Given the description of an element on the screen output the (x, y) to click on. 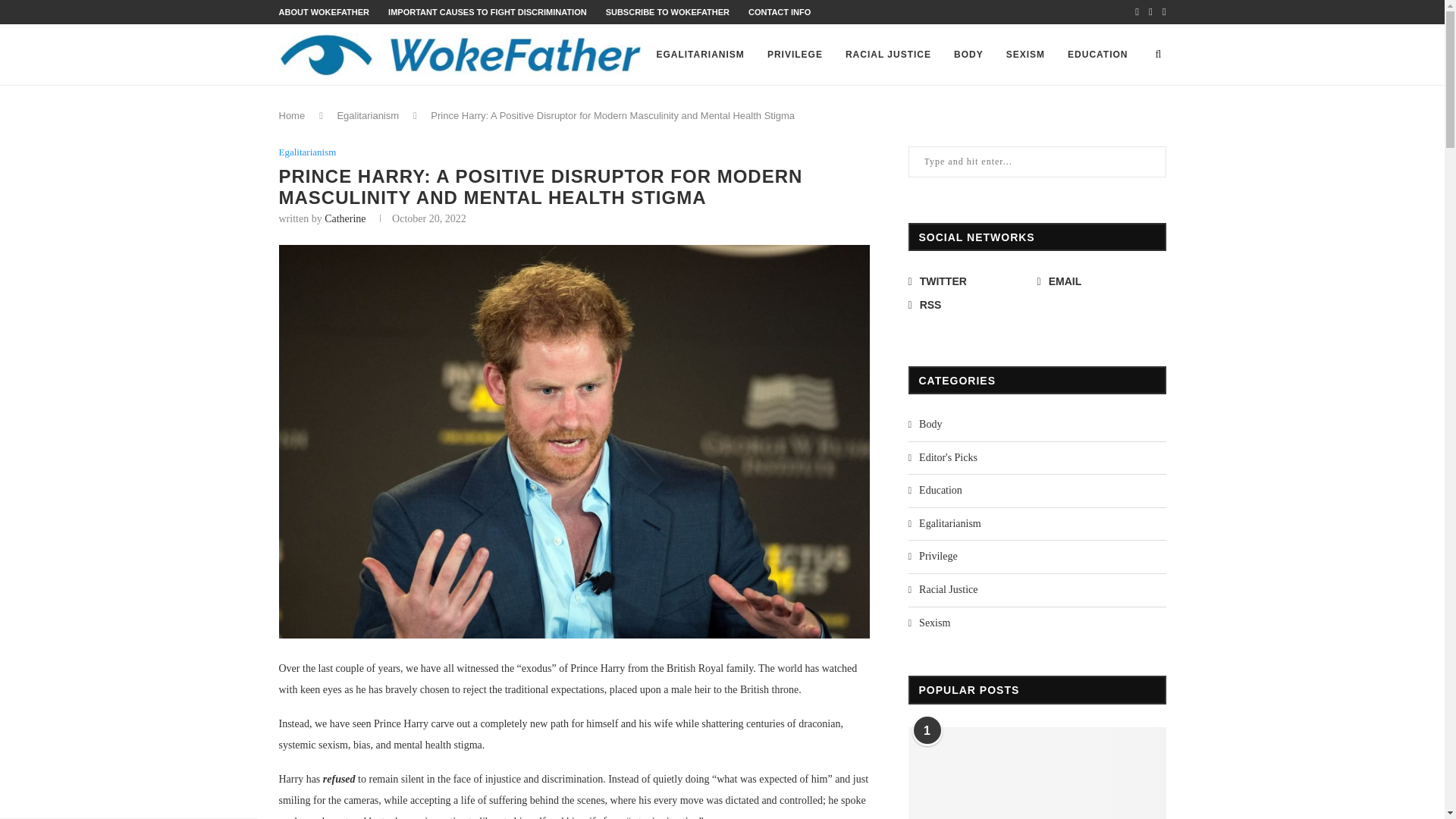
ABOUT WOKEFATHER (324, 11)
IMPORTANT CAUSES TO FIGHT DISCRIMINATION (487, 11)
SUBSCRIBE TO WOKEFATHER (667, 11)
Teachers, You Are Biased Against Boys and Need to Change (1037, 773)
CONTACT INFO (779, 11)
Home (292, 115)
EDUCATION (1097, 54)
PRIVILEGE (794, 54)
SEXISM (1025, 54)
Egalitarianism (307, 152)
